Given the description of an element on the screen output the (x, y) to click on. 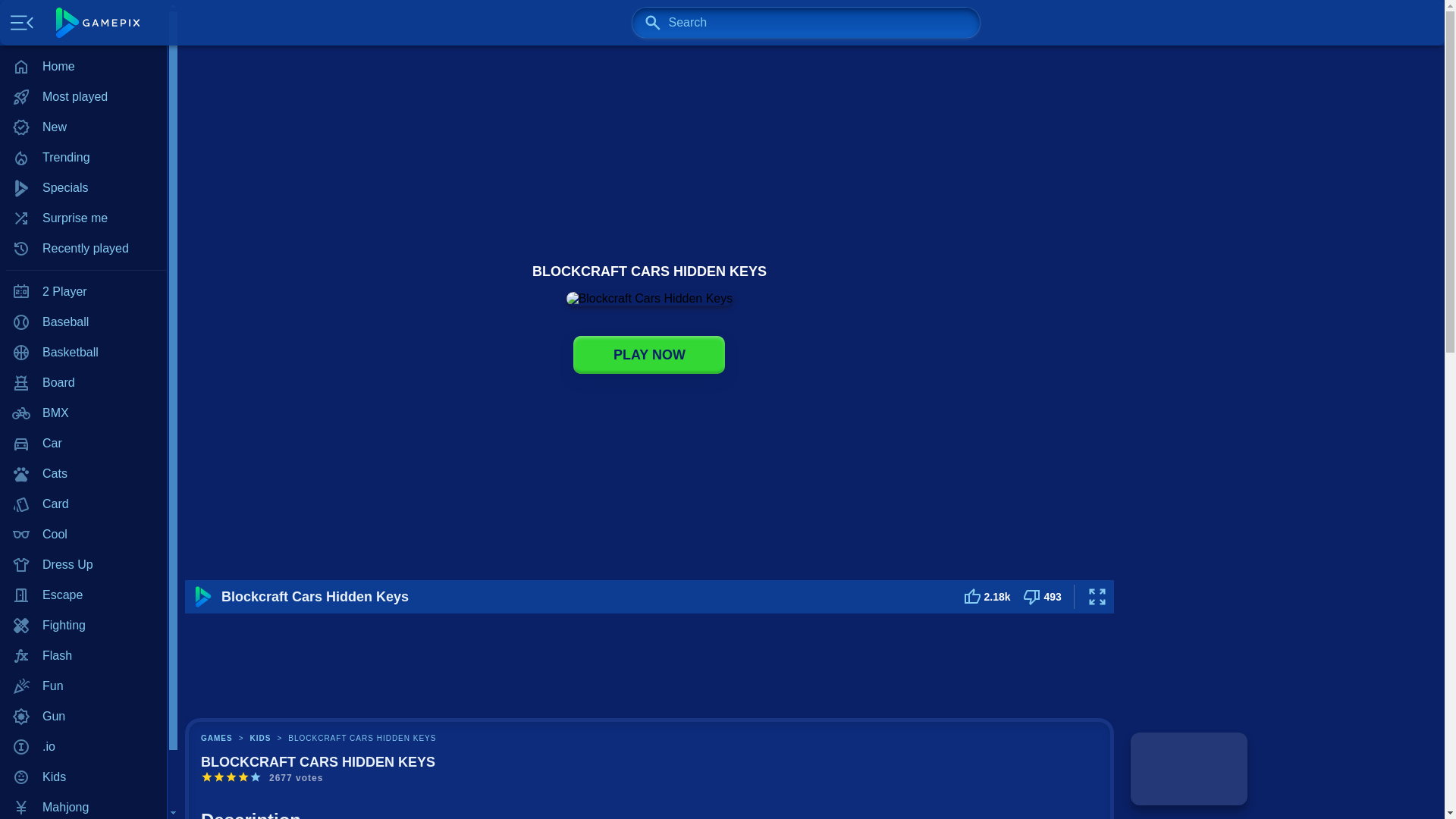
Most played (83, 96)
Escape (83, 594)
Gun (83, 716)
Basketball (83, 352)
Cats (83, 473)
.io (83, 747)
Cool (83, 534)
New (83, 127)
Baseball (83, 322)
Flash (83, 655)
Board (83, 382)
Fun (83, 685)
BMX (83, 413)
Escape (83, 594)
Trending (83, 157)
